Given the description of an element on the screen output the (x, y) to click on. 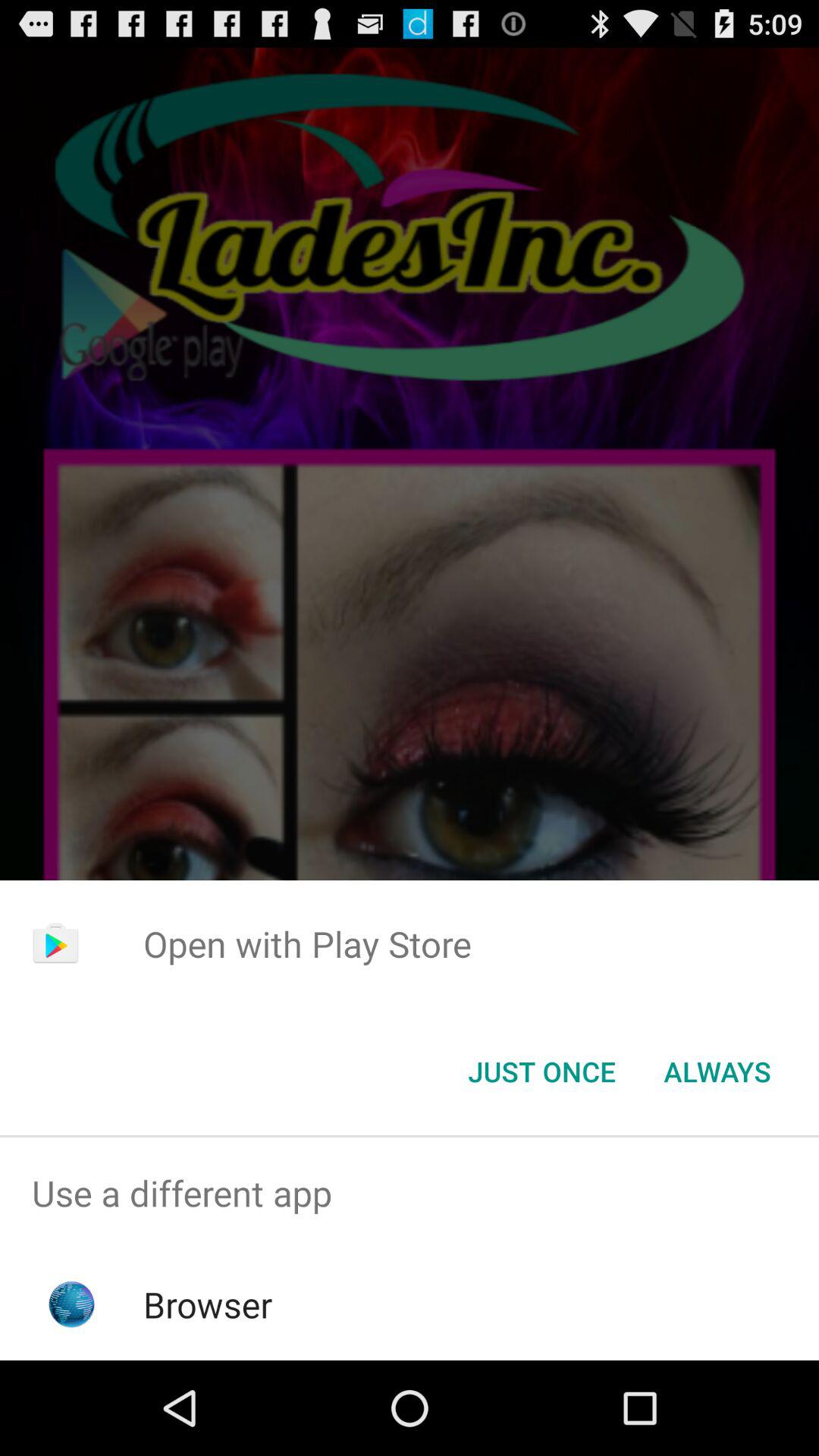
tap browser icon (207, 1304)
